Given the description of an element on the screen output the (x, y) to click on. 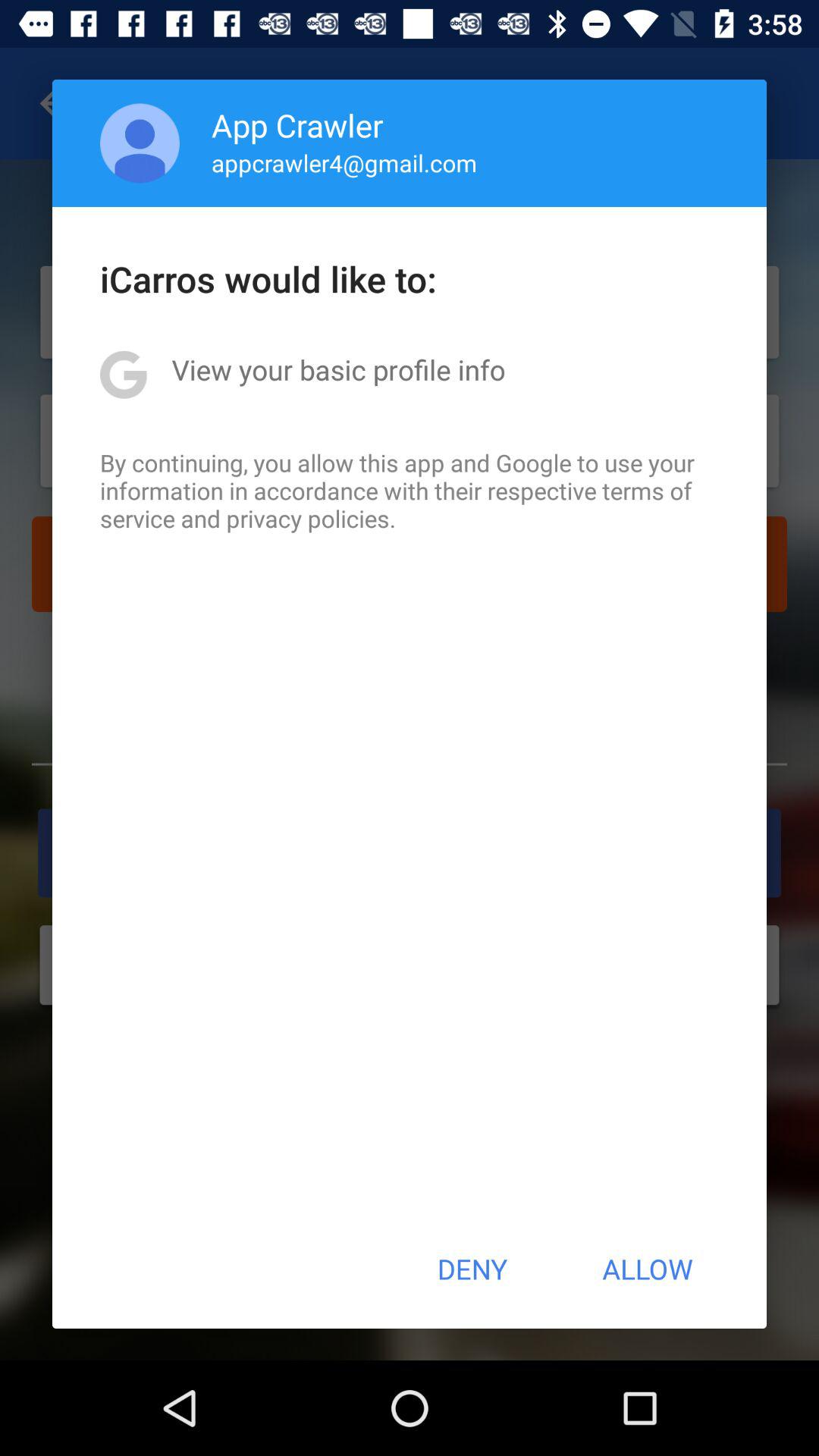
scroll until app crawler icon (297, 124)
